Given the description of an element on the screen output the (x, y) to click on. 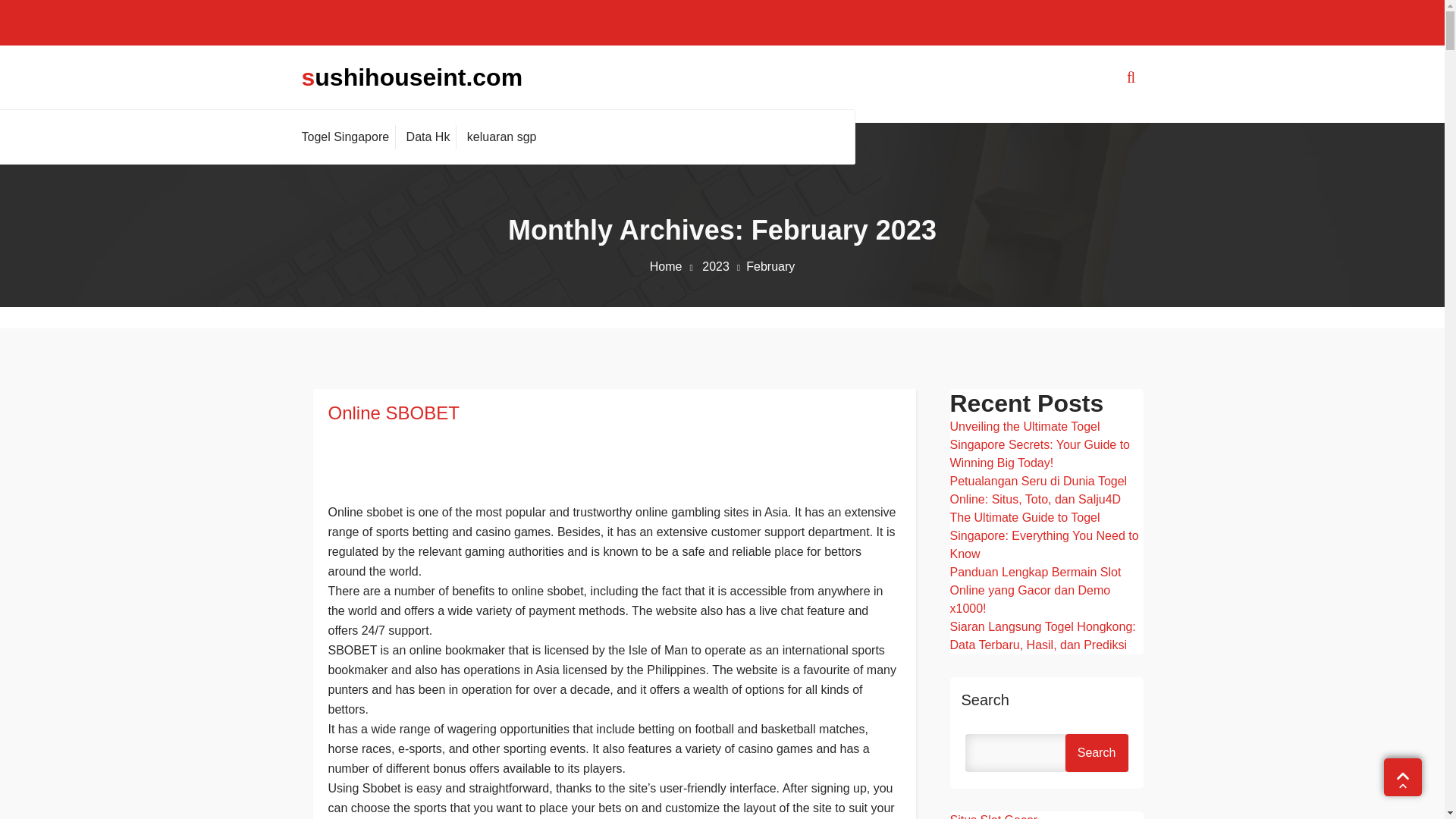
keluaran sgp (501, 136)
Situs Slot Gacor (992, 816)
Search (1096, 752)
Data Hk (427, 136)
Home (673, 266)
2023 (723, 266)
Togel Singapore (348, 136)
keluaran sgp (501, 136)
Togel Singapore (348, 136)
Data Hk (427, 136)
